Given the description of an element on the screen output the (x, y) to click on. 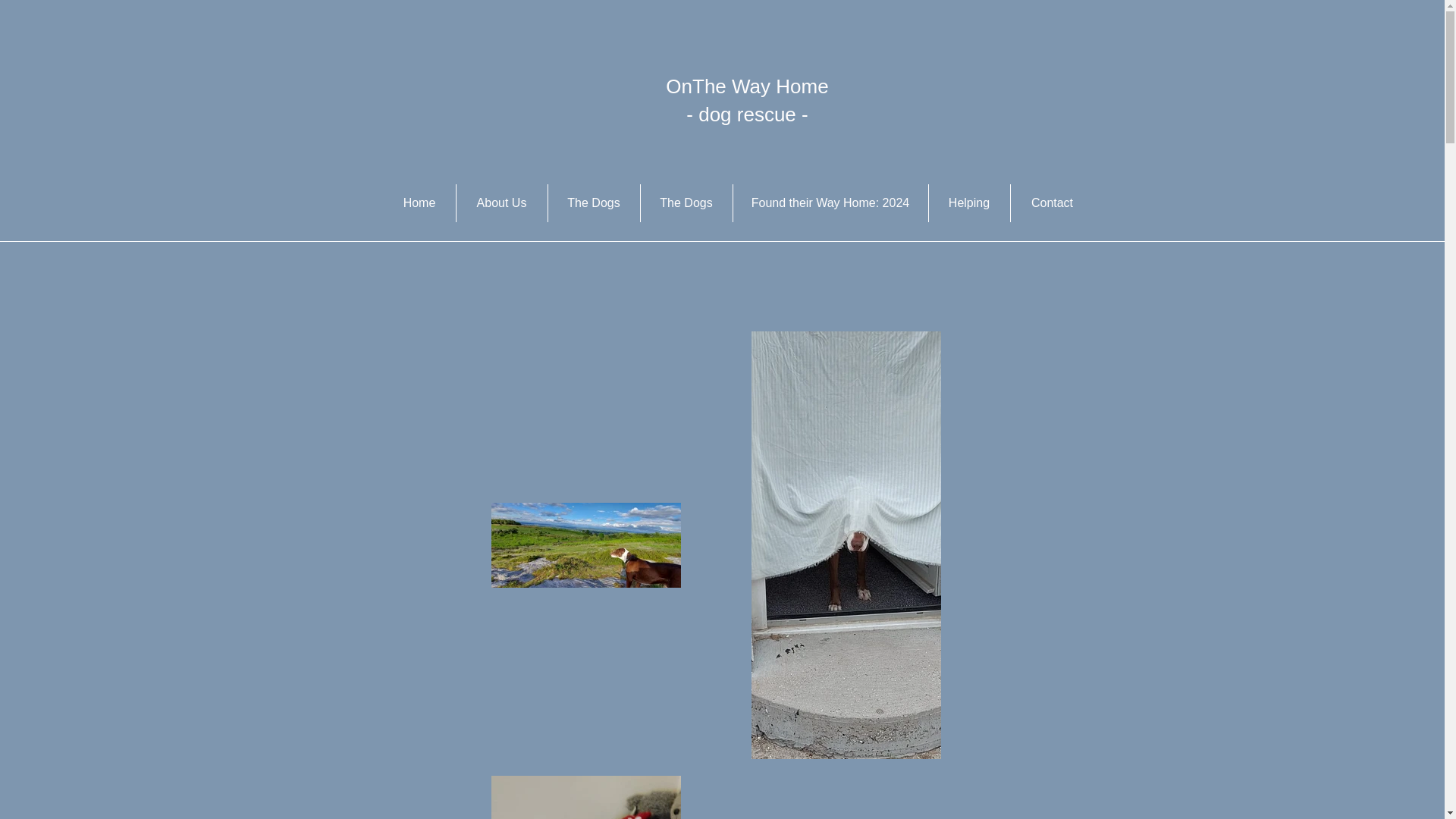
OnThe Way Home (746, 86)
Home (419, 202)
The Dogs (686, 202)
The Dogs (593, 202)
- dog rescue - (746, 114)
About Us (502, 202)
